Given the description of an element on the screen output the (x, y) to click on. 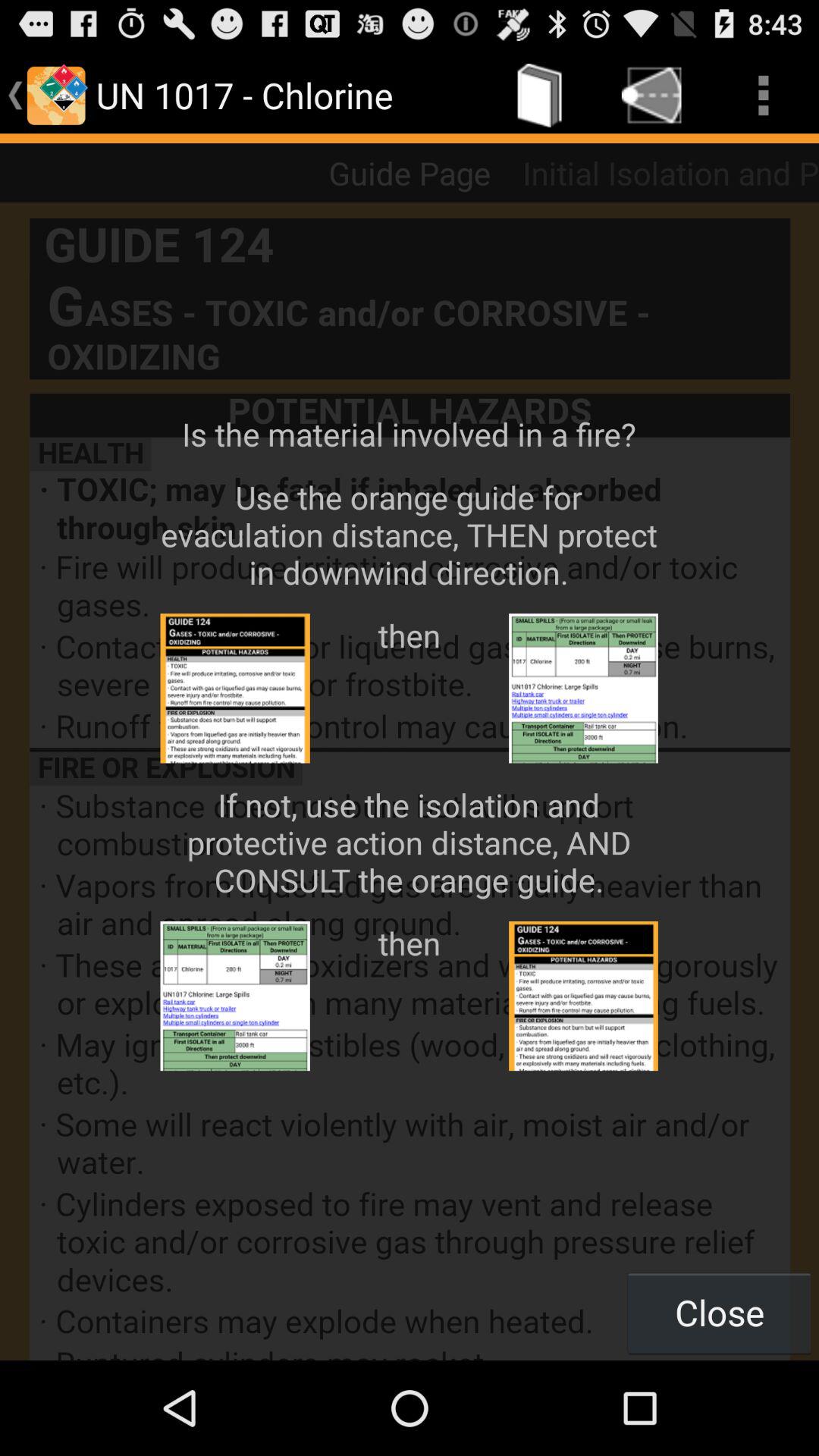
choose app above guide page (540, 95)
